Given the description of an element on the screen output the (x, y) to click on. 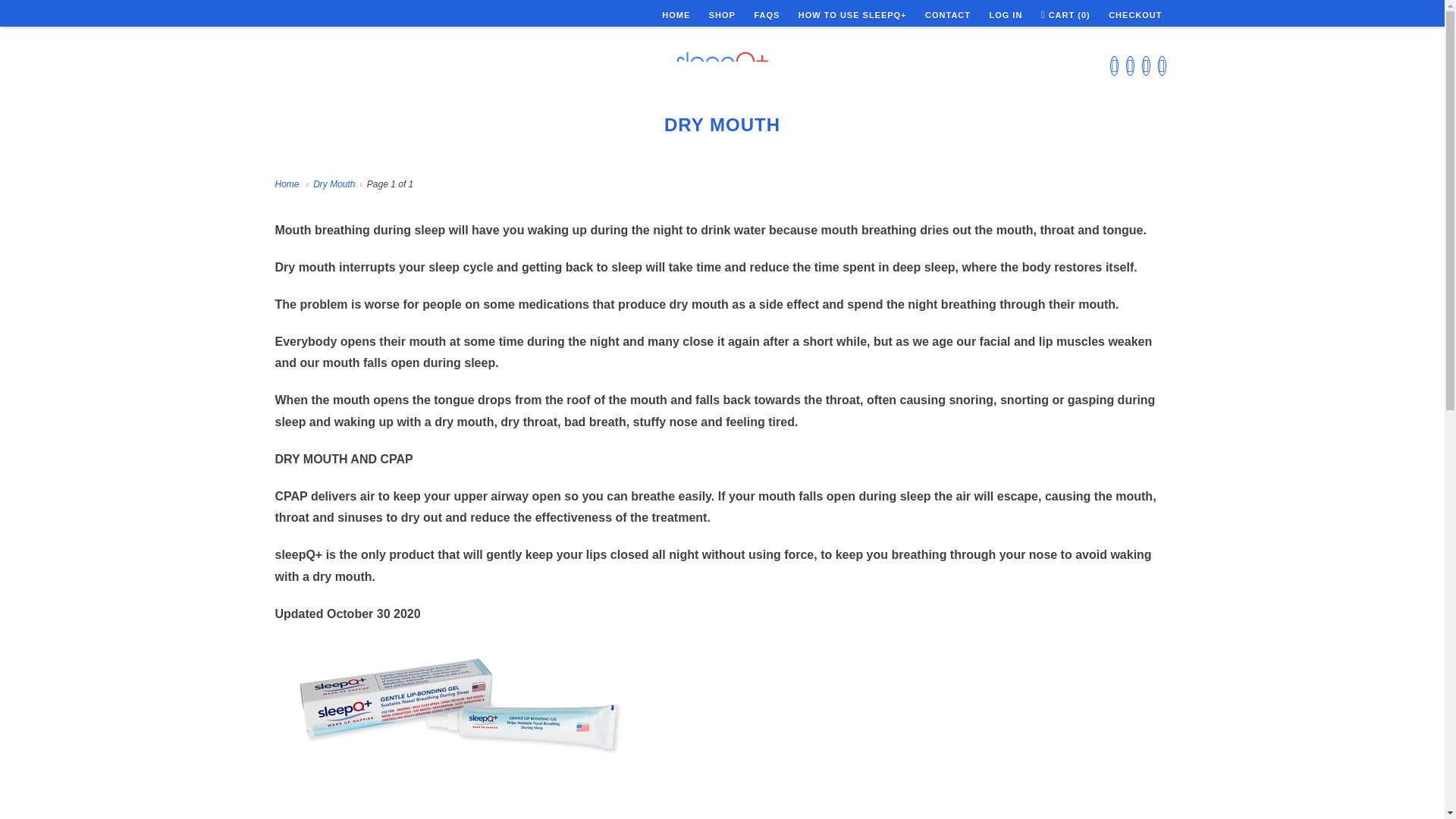
HOME (676, 15)
CONTACT (947, 15)
Home (288, 184)
DRY MOUTH (721, 124)
LOG IN (1005, 15)
Dry Mouth (721, 124)
Dry Mouth (336, 184)
CHECKOUT (1134, 15)
FAQS (766, 15)
SHOP (722, 15)
